Given the description of an element on the screen output the (x, y) to click on. 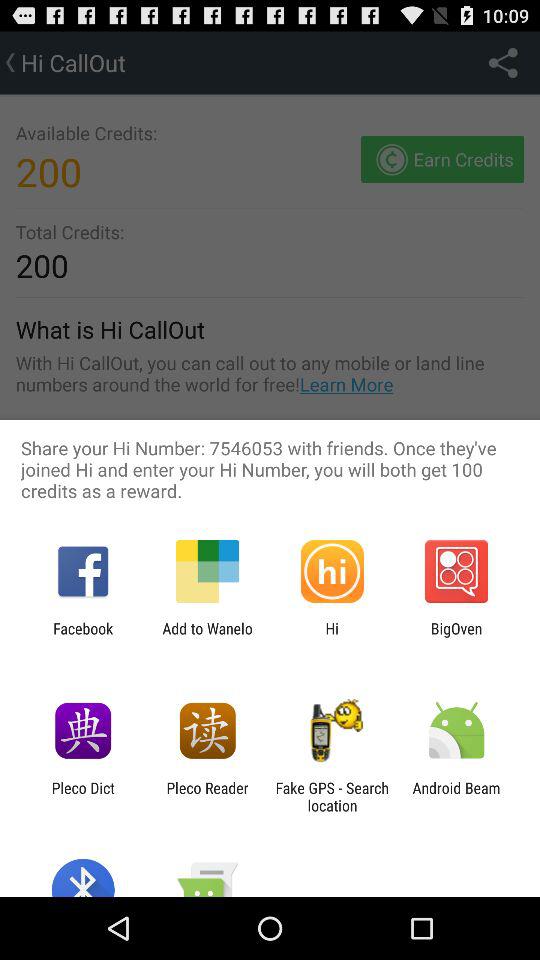
turn off the fake gps search (332, 796)
